Given the description of an element on the screen output the (x, y) to click on. 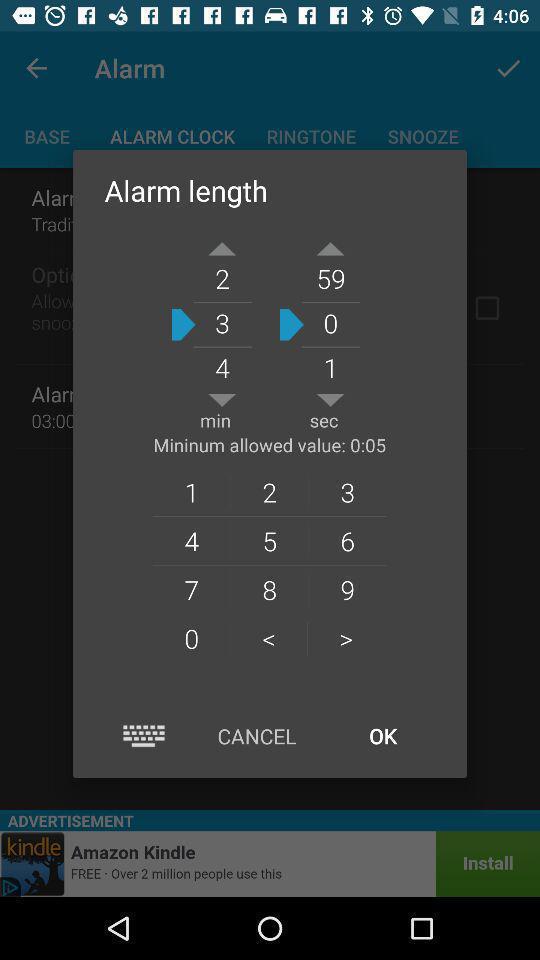
launch the item below the mininum allowed value (191, 492)
